Given the description of an element on the screen output the (x, y) to click on. 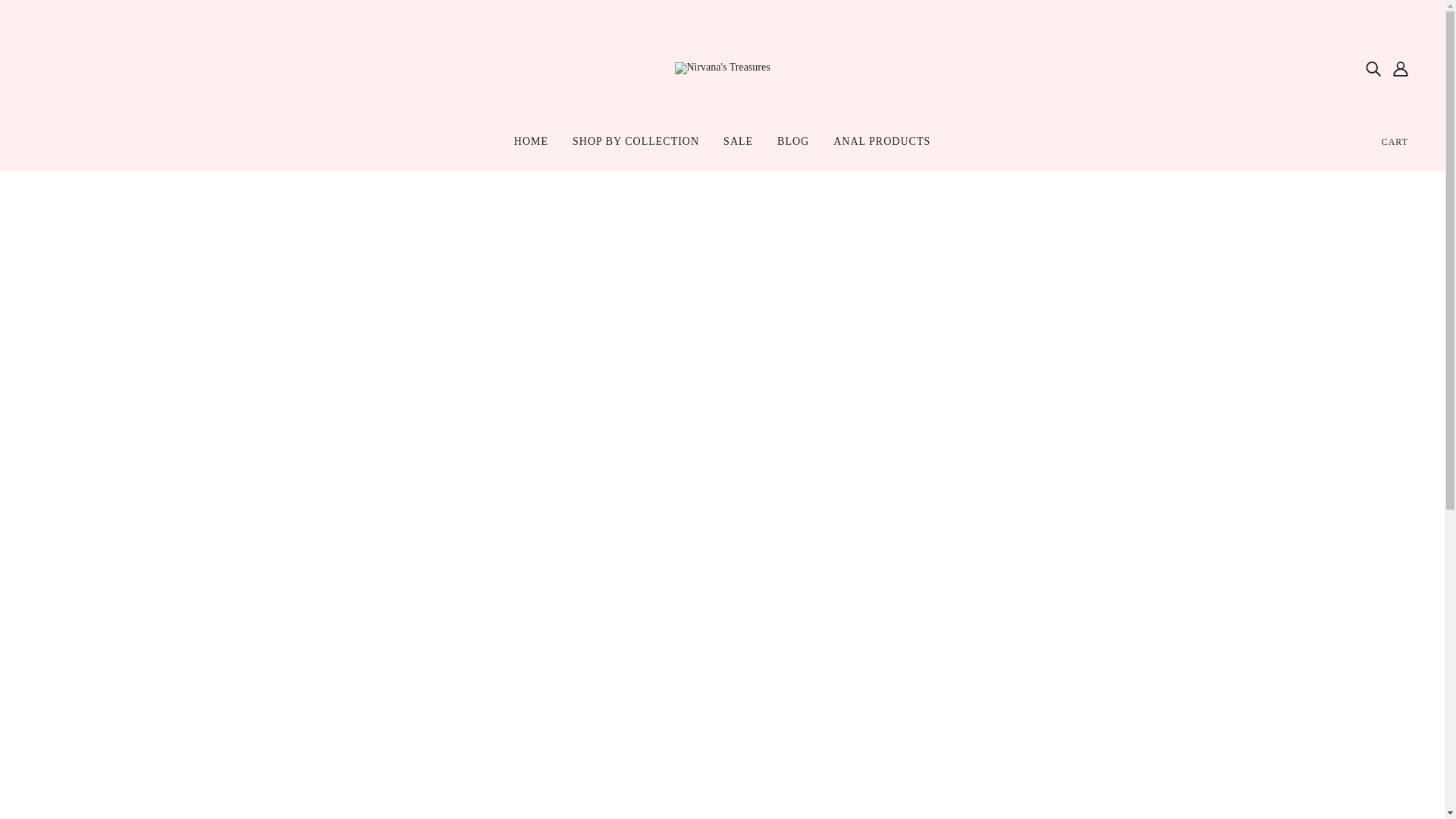
BLOG (793, 147)
Nirvana's Treasures (722, 66)
ANAL PRODUCTS (881, 147)
SALE (738, 147)
CART (1395, 141)
SHOP BY COLLECTION (635, 147)
HOME (531, 147)
